Given the description of an element on the screen output the (x, y) to click on. 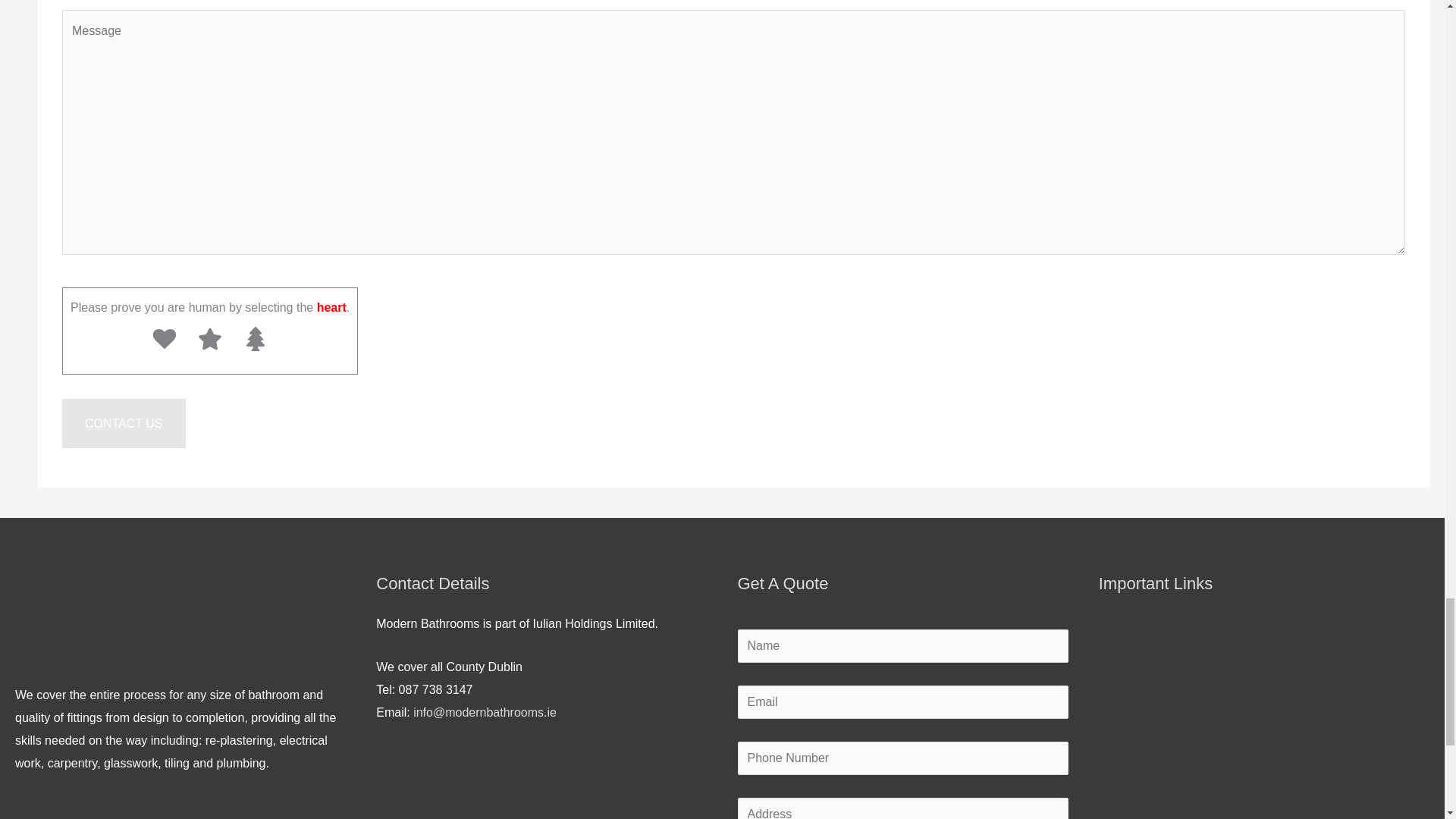
CONTACT US (124, 423)
CONTACT US (124, 423)
